Given the description of an element on the screen output the (x, y) to click on. 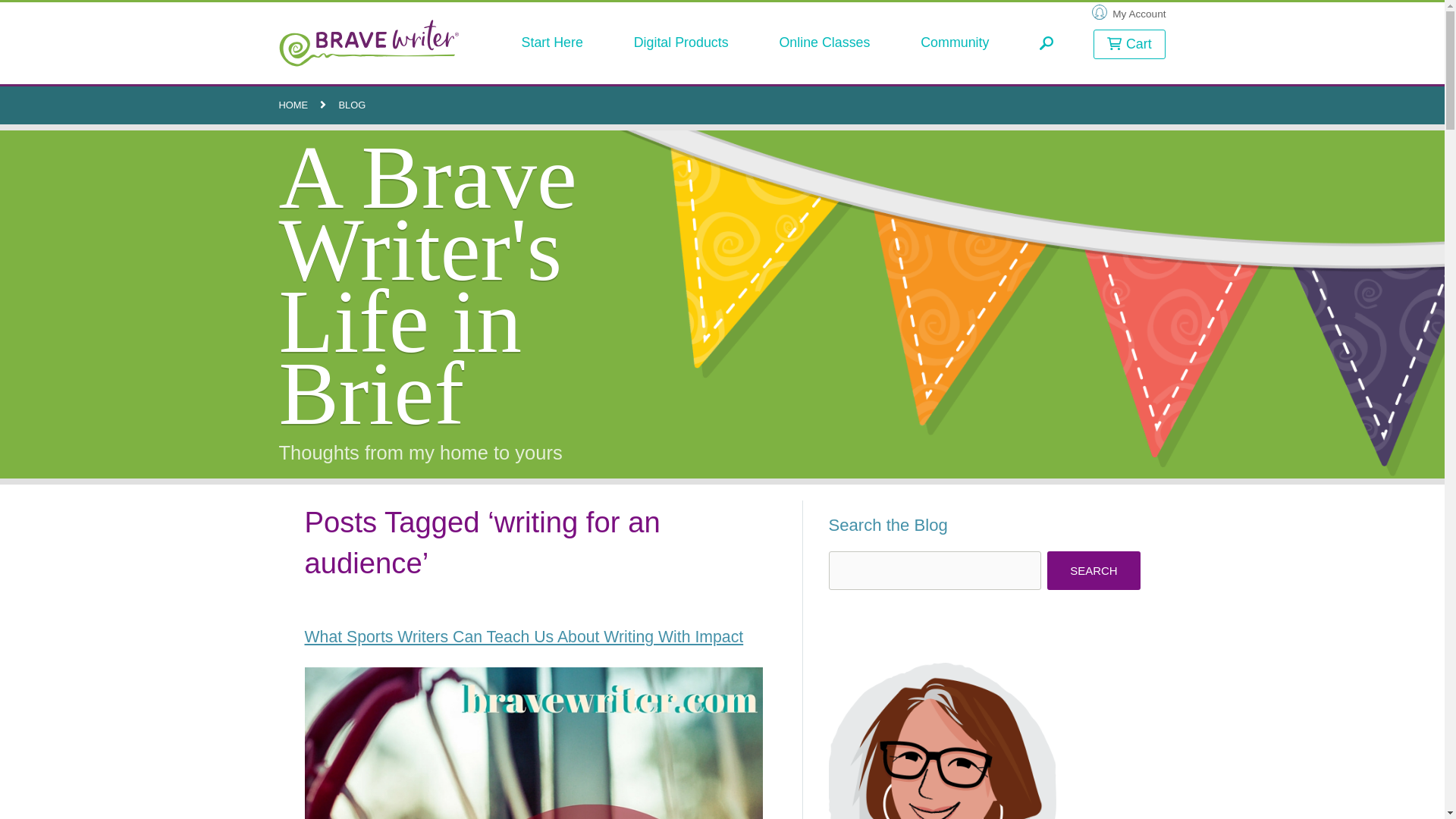
Search (1093, 570)
